Given the description of an element on the screen output the (x, y) to click on. 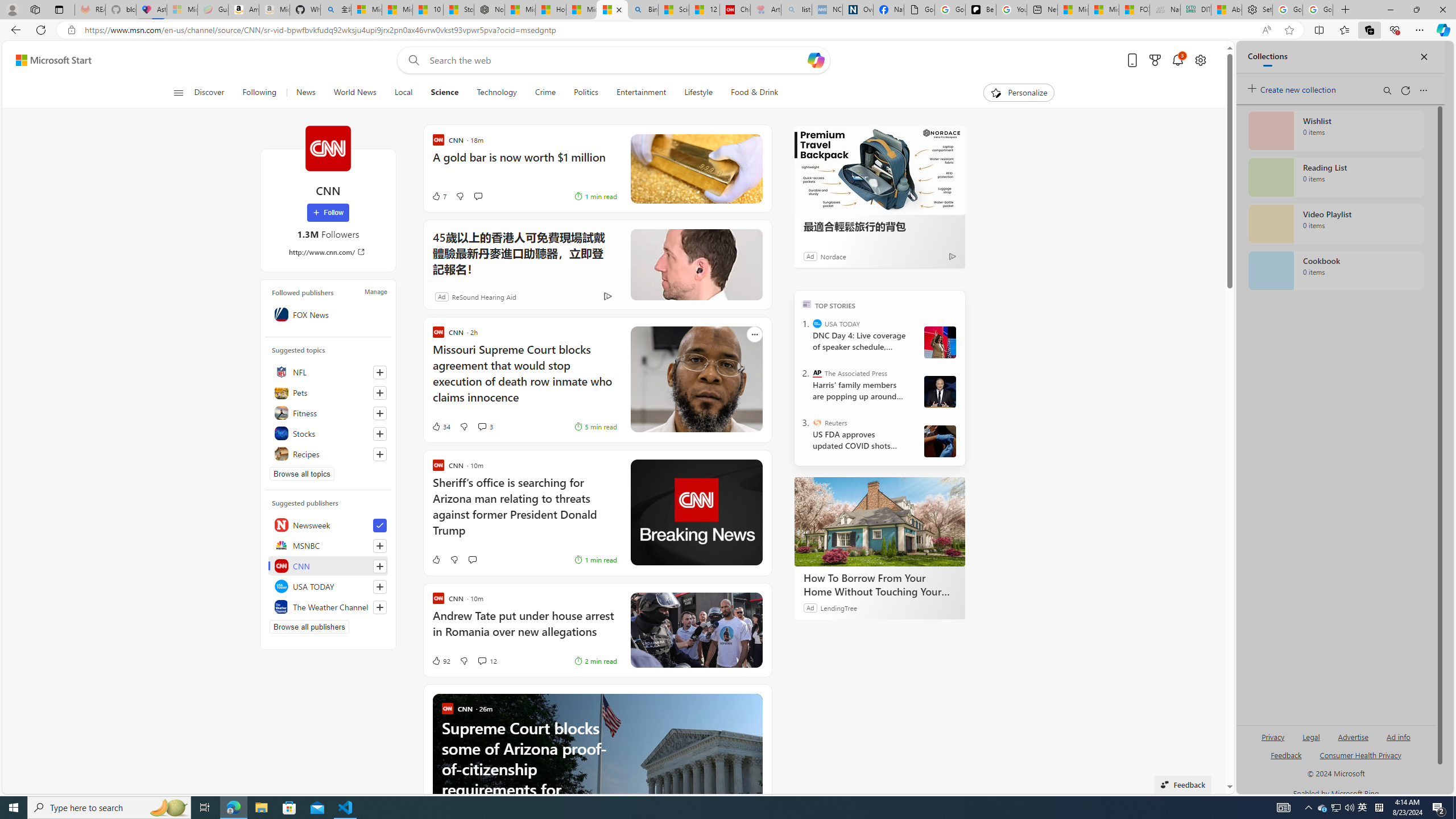
View comments 12 Comment (474, 661)
ReSound Hearing Aid (471, 296)
34 Like (440, 426)
Be Smart | creating Science videos | Patreon (980, 9)
Open navigation menu (177, 92)
